Given the description of an element on the screen output the (x, y) to click on. 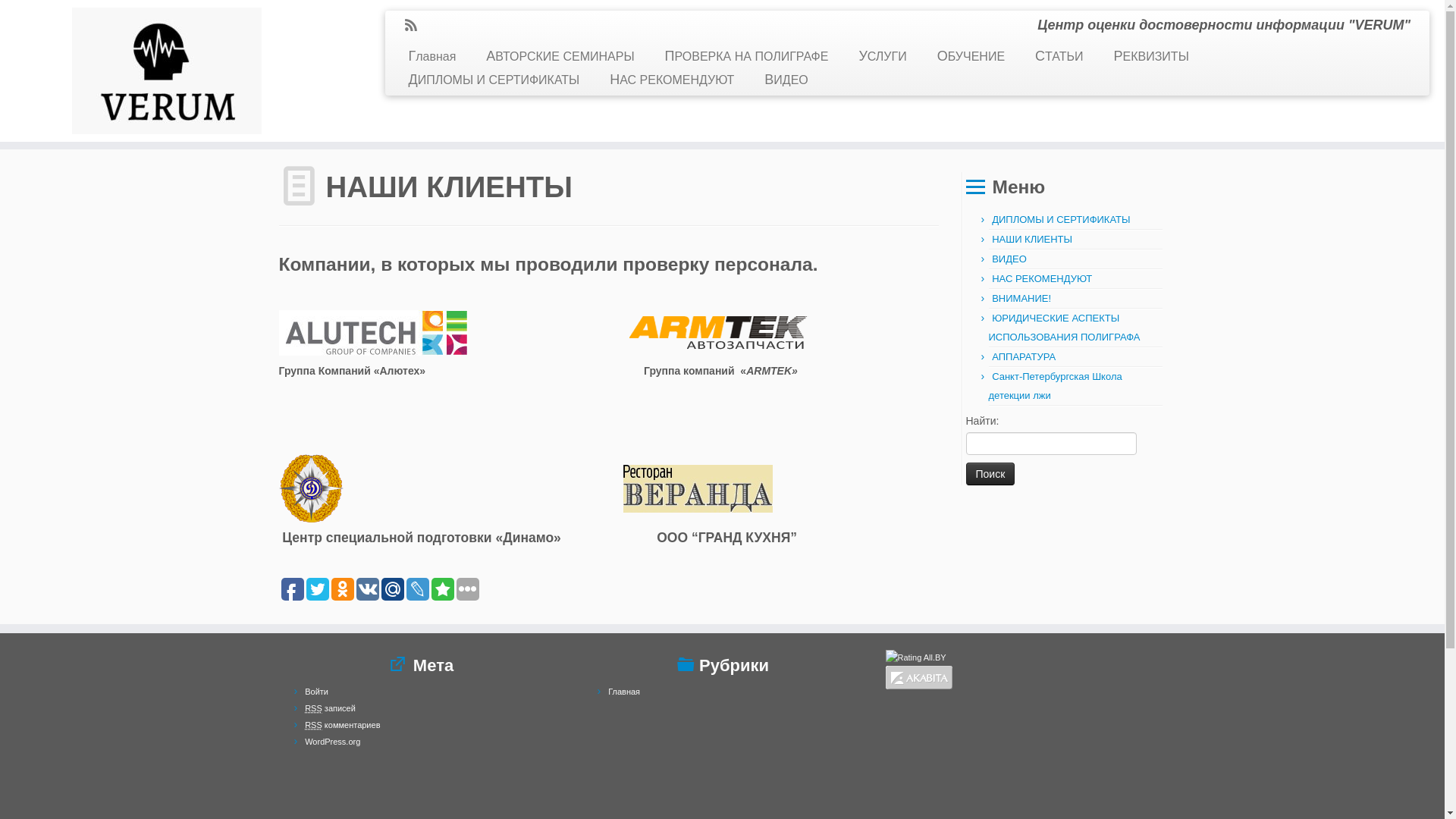
Suscribe to my rss feed Element type: hover (415, 26)
LiveInternet Element type: hover (593, 719)
WordPress.org Element type: text (332, 741)
